Given the description of an element on the screen output the (x, y) to click on. 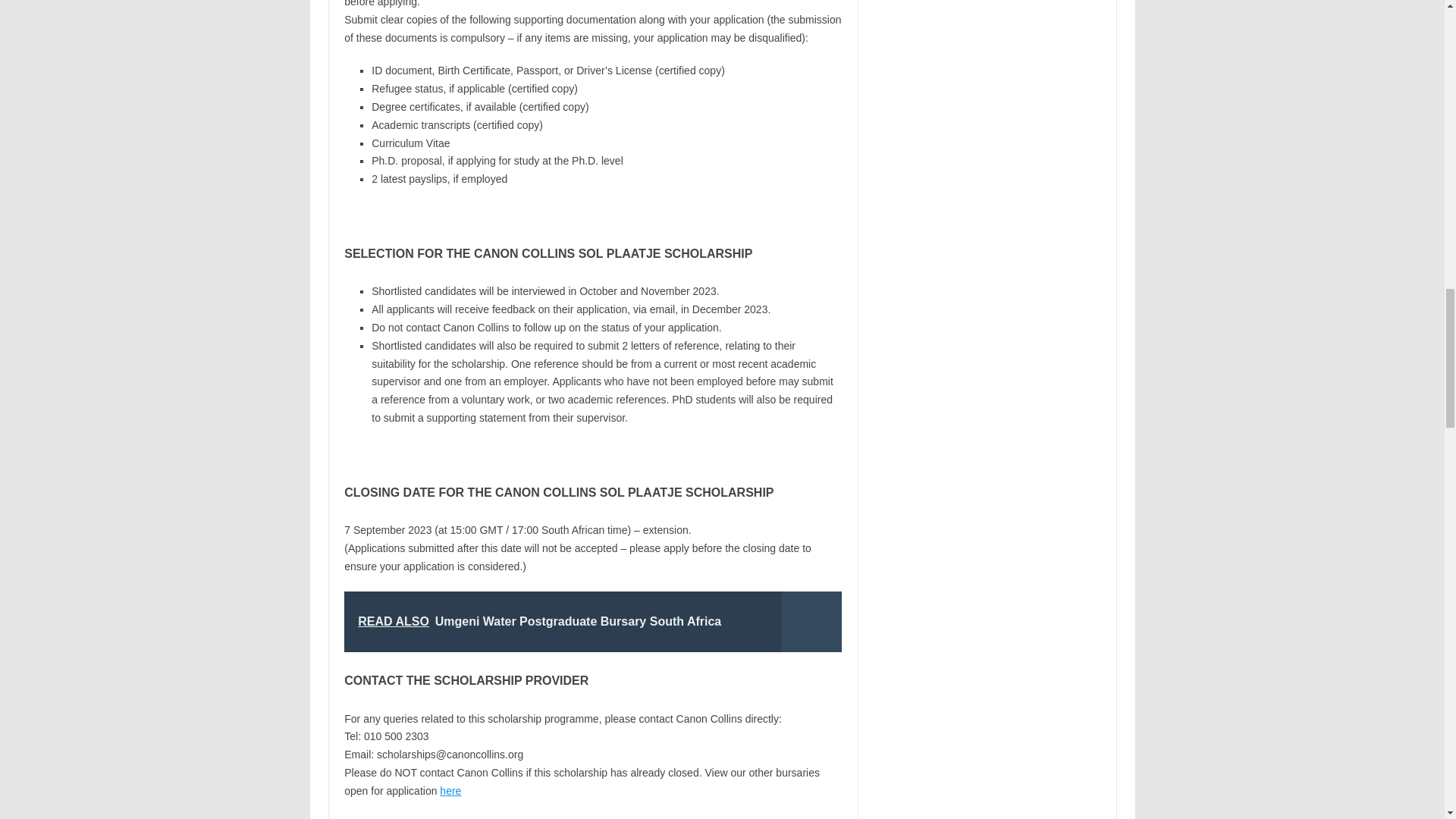
here (450, 790)
READ ALSO  Umgeni Water Postgraduate Bursary South Africa (592, 621)
